Given the description of an element on the screen output the (x, y) to click on. 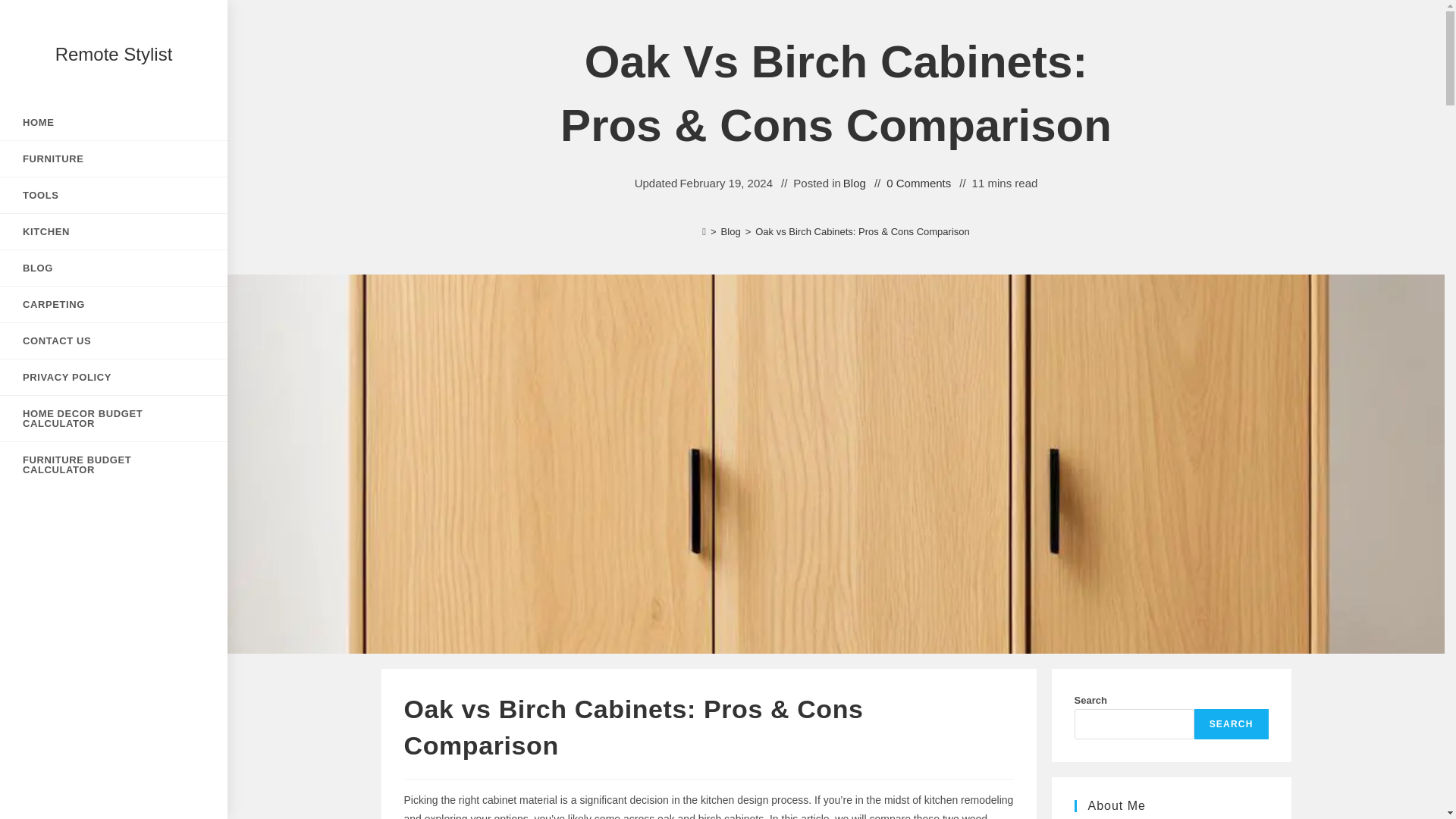
FURNITURE BUDGET CALCULATOR (113, 464)
0 Comments (918, 182)
KITCHEN (113, 231)
CARPETING (113, 304)
CONTACT US (113, 340)
HOME DECOR BUDGET CALCULATOR (113, 418)
Remote Stylist (114, 54)
BLOG (113, 267)
Blog (854, 182)
PRIVACY POLICY (113, 376)
Blog (730, 231)
FURNITURE (113, 158)
TOOLS (113, 194)
HOME (113, 122)
